Given the description of an element on the screen output the (x, y) to click on. 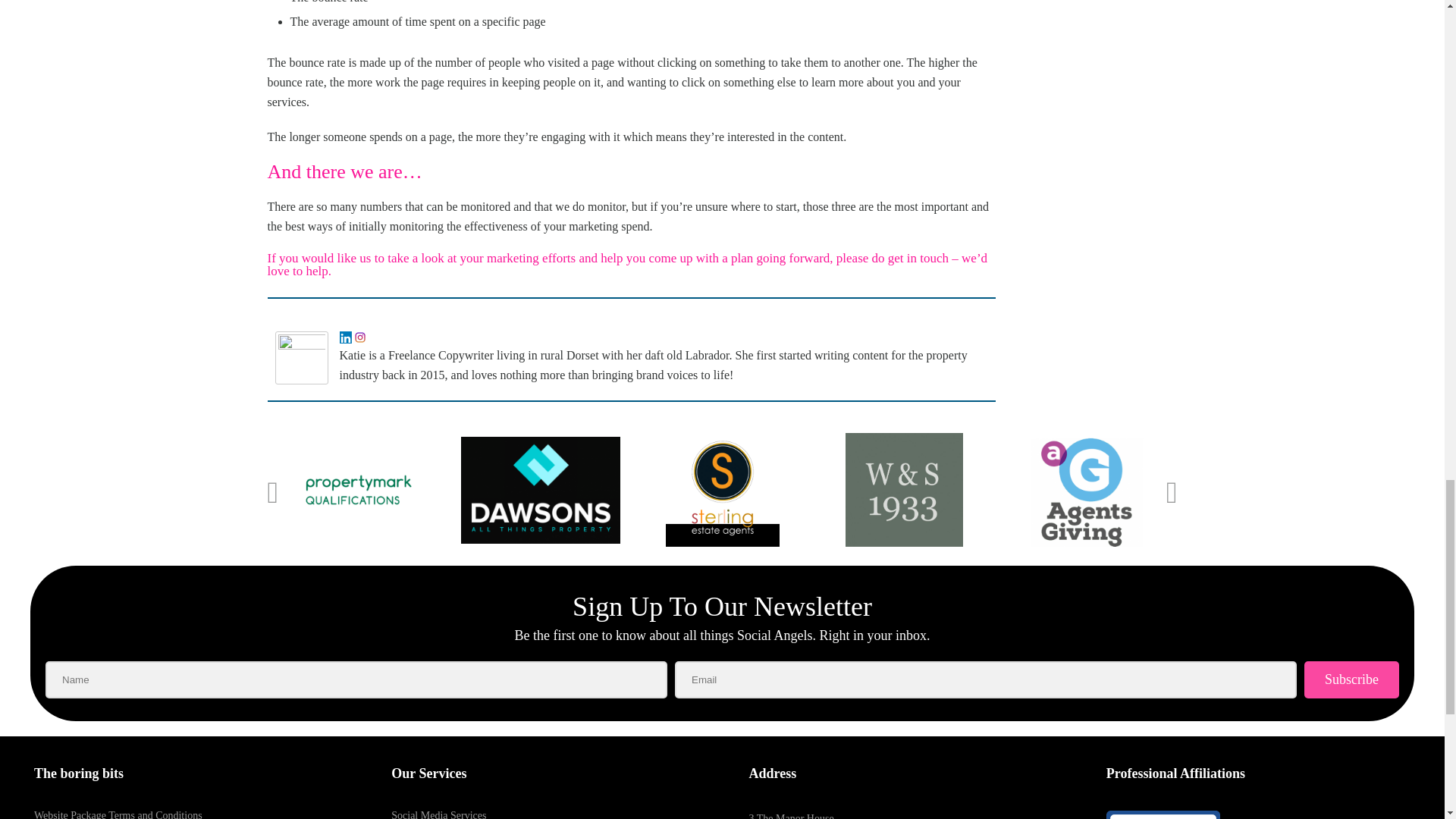
All posts by Katie Gillingham (335, 314)
